Given the description of an element on the screen output the (x, y) to click on. 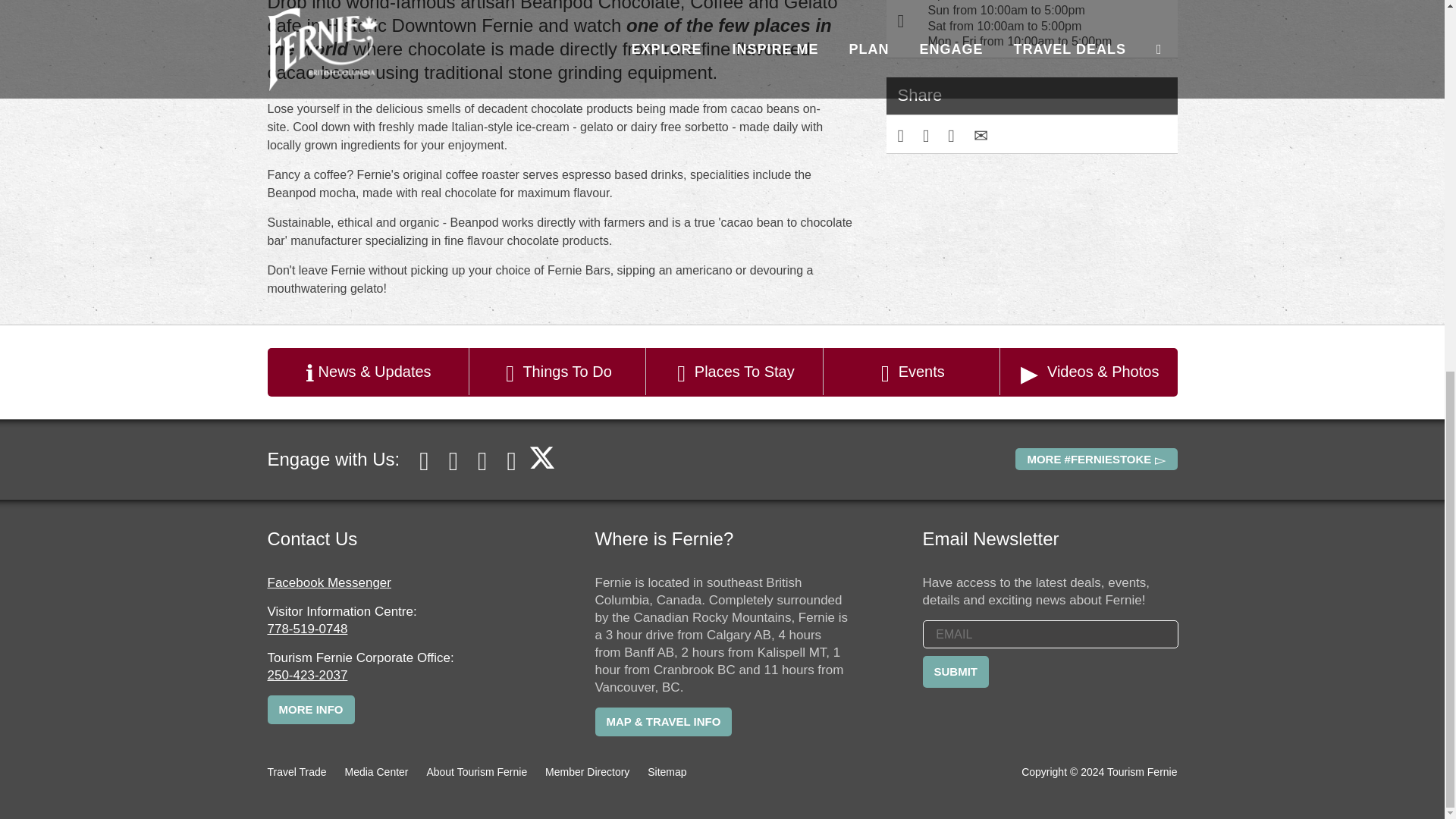
Submit (954, 671)
